Given the description of an element on the screen output the (x, y) to click on. 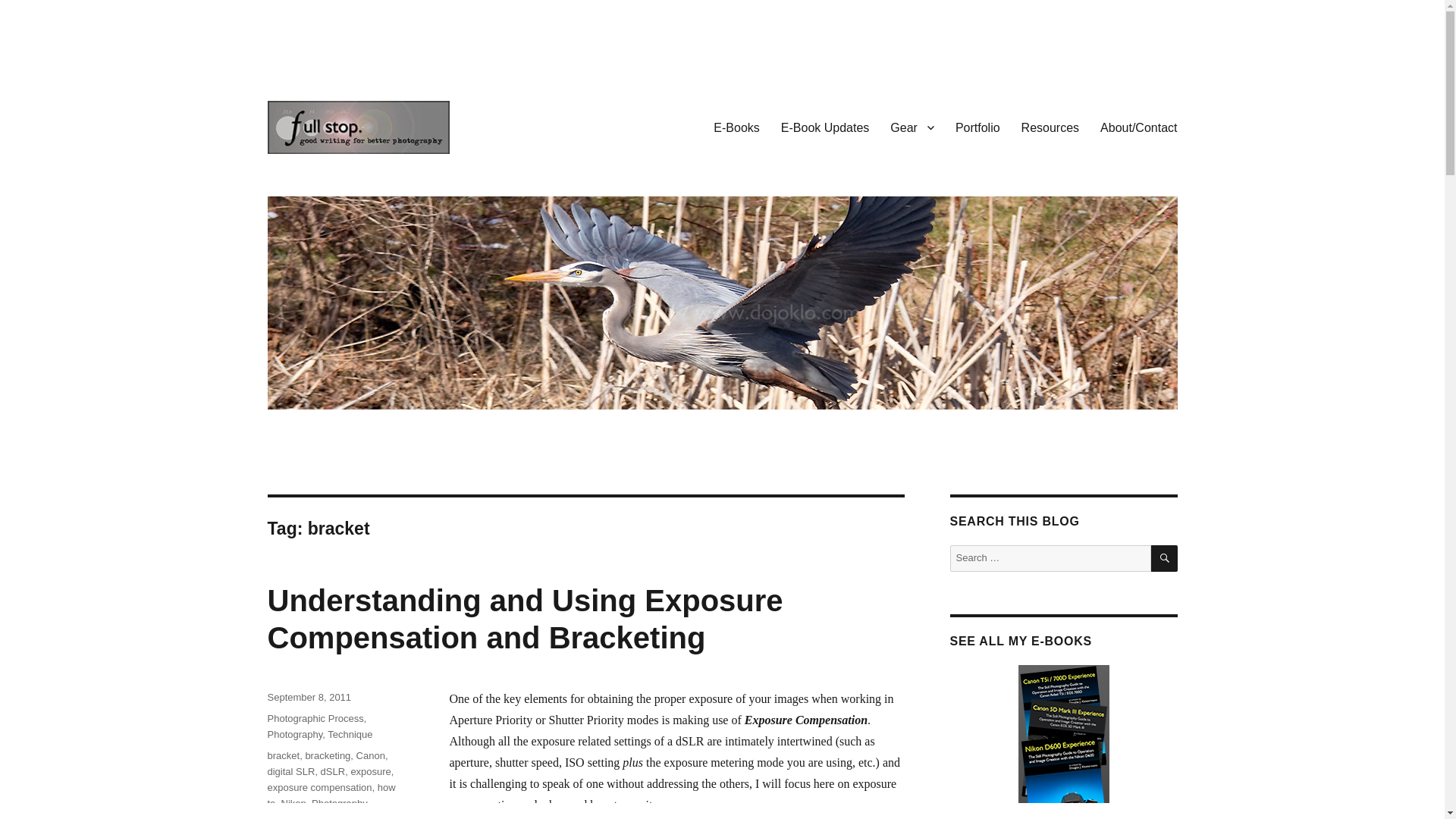
exposure (370, 771)
Picturing Change (354, 177)
Technique (349, 734)
Understanding and Using Exposure Compensation and Bracketing (524, 618)
Portfolio (977, 127)
Photographic Process (314, 717)
bracketing (327, 755)
exposure compensation (318, 787)
September 8, 2011 (308, 696)
dSLR (333, 771)
